Given the description of an element on the screen output the (x, y) to click on. 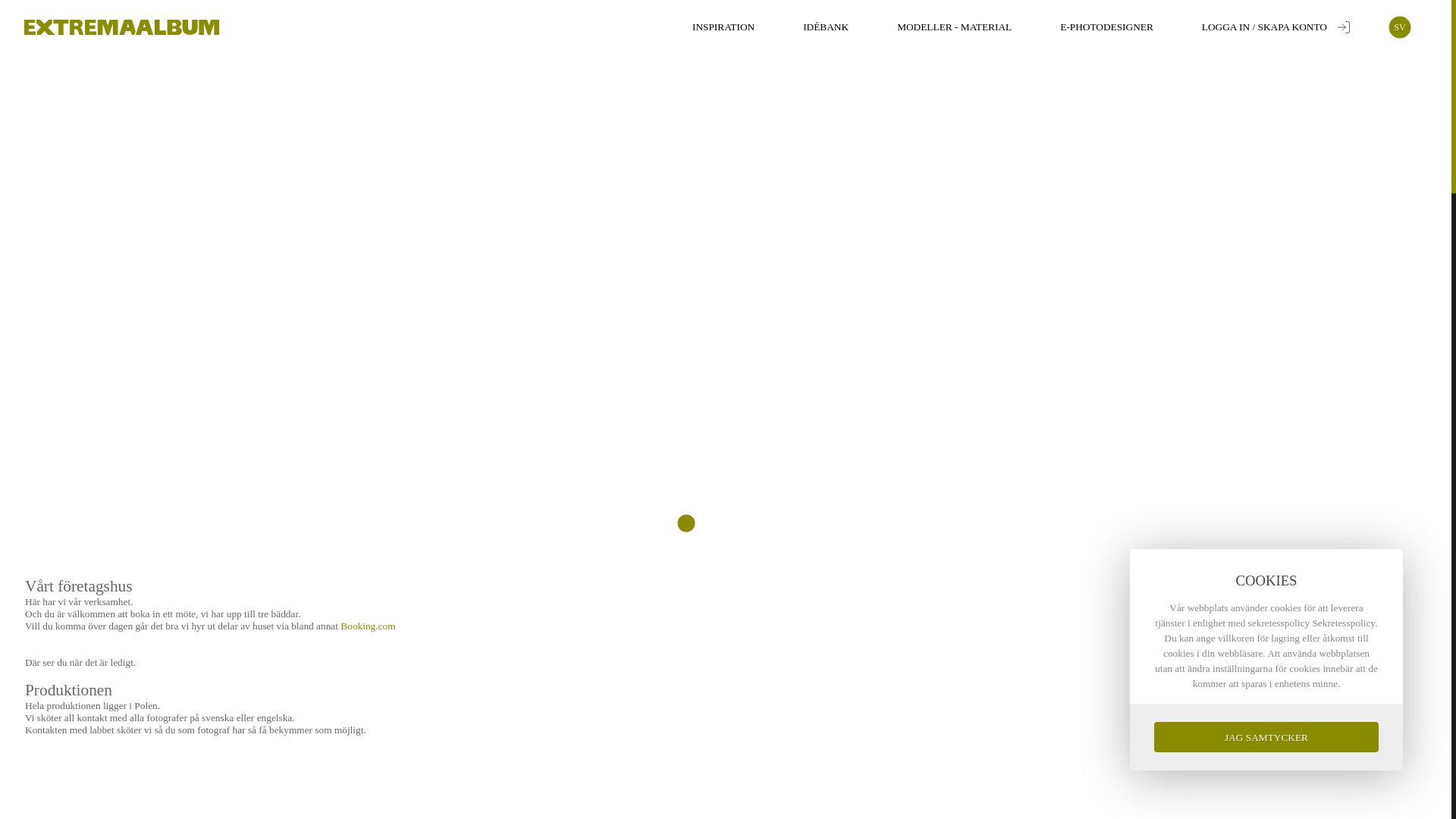
E-PHOTODESIGNER (1106, 27)
Booking.com (367, 625)
MODELLER - MATERIAL (953, 27)
INSPIRATION (723, 27)
